Given the description of an element on the screen output the (x, y) to click on. 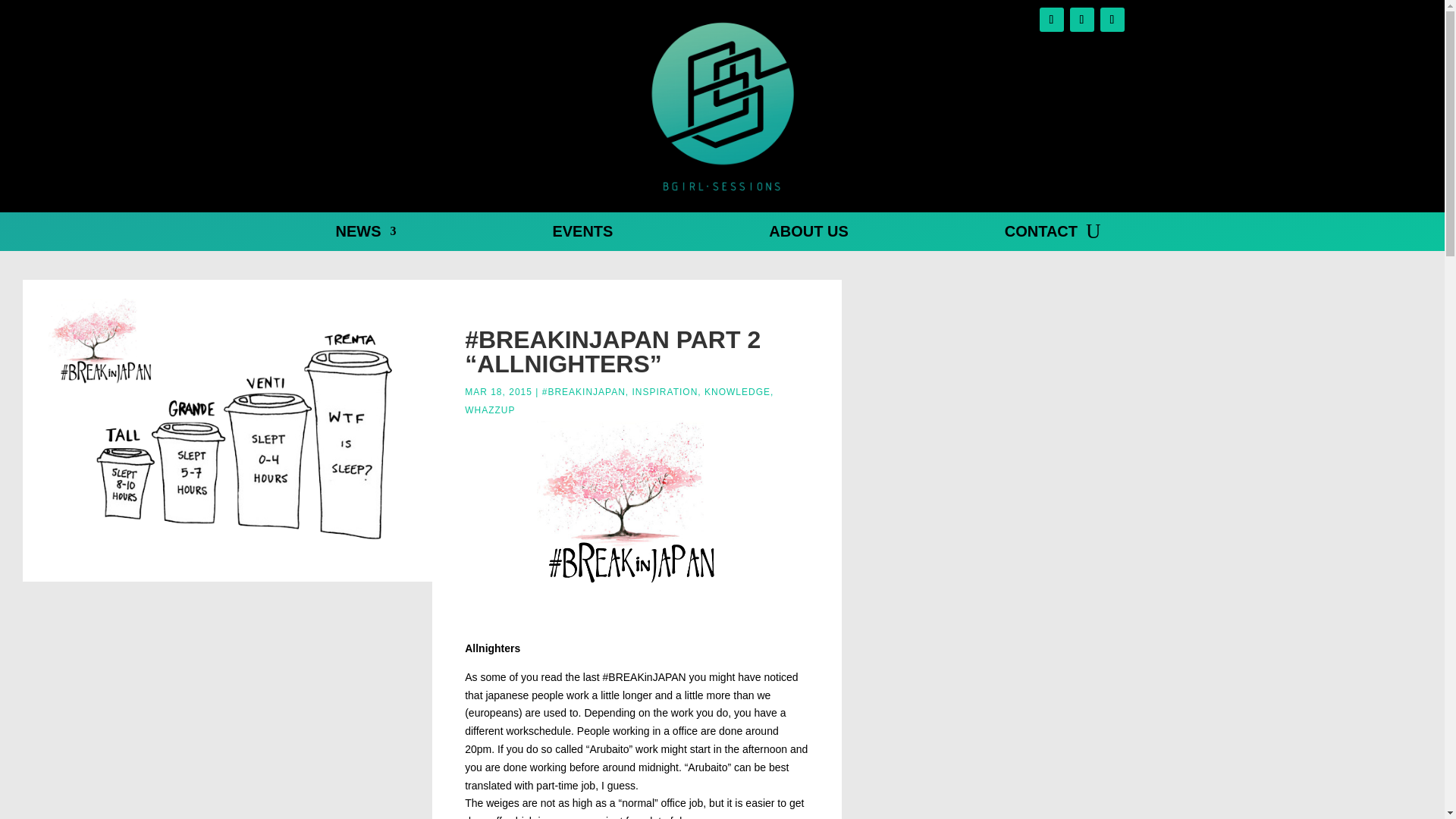
ABOUT US (807, 234)
Screen shot 2015-03-16 at 14.07.44 (227, 430)
Follow on Instagram (1080, 19)
NEWS (365, 234)
CONTACT (1040, 234)
Follow on Youtube (1111, 19)
Follow on Facebook (1050, 19)
EVENTS (581, 234)
